Given the description of an element on the screen output the (x, y) to click on. 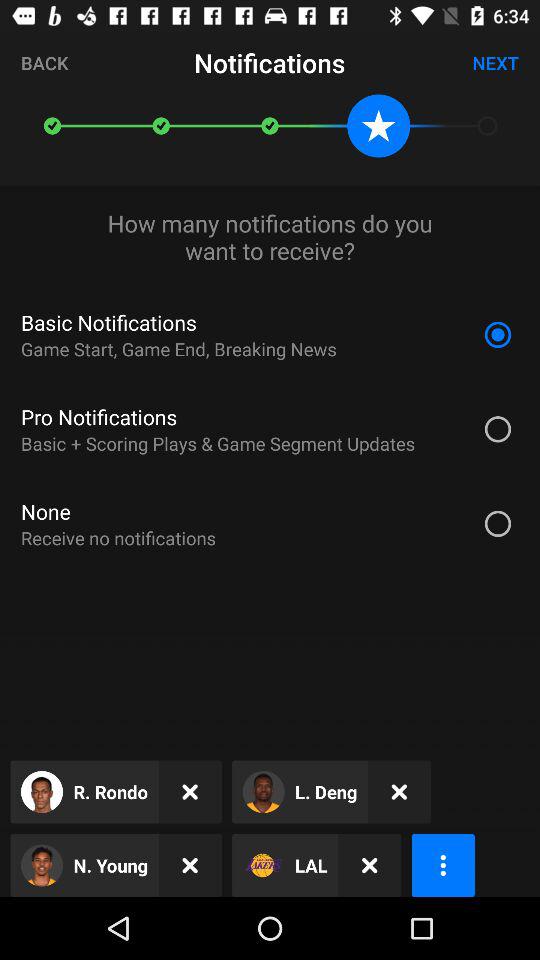
click the item next to the notifications icon (44, 62)
